Given the description of an element on the screen output the (x, y) to click on. 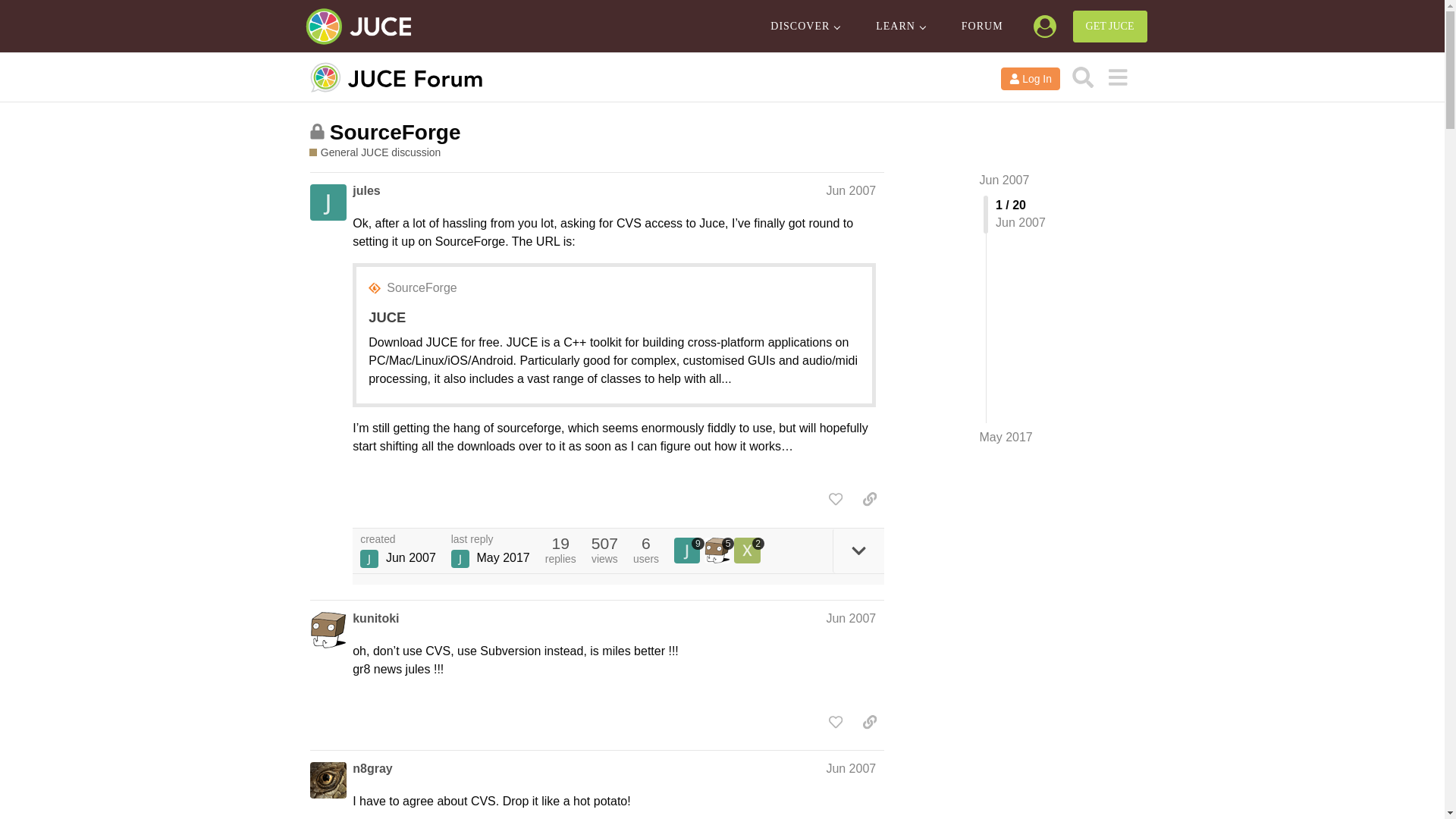
May 12, 2017 11:22 pm (502, 557)
Jump to the last post (1005, 436)
Search (1082, 76)
last reply (490, 539)
FORUM (982, 26)
Log In (1030, 78)
5 (719, 550)
Jules (368, 558)
expand topic details (857, 550)
like this post (835, 498)
2 (748, 550)
Jun 2007 (1004, 179)
LEARN (900, 26)
Discussion and support for general JUCE issues (374, 152)
Post date (850, 190)
